Given the description of an element on the screen output the (x, y) to click on. 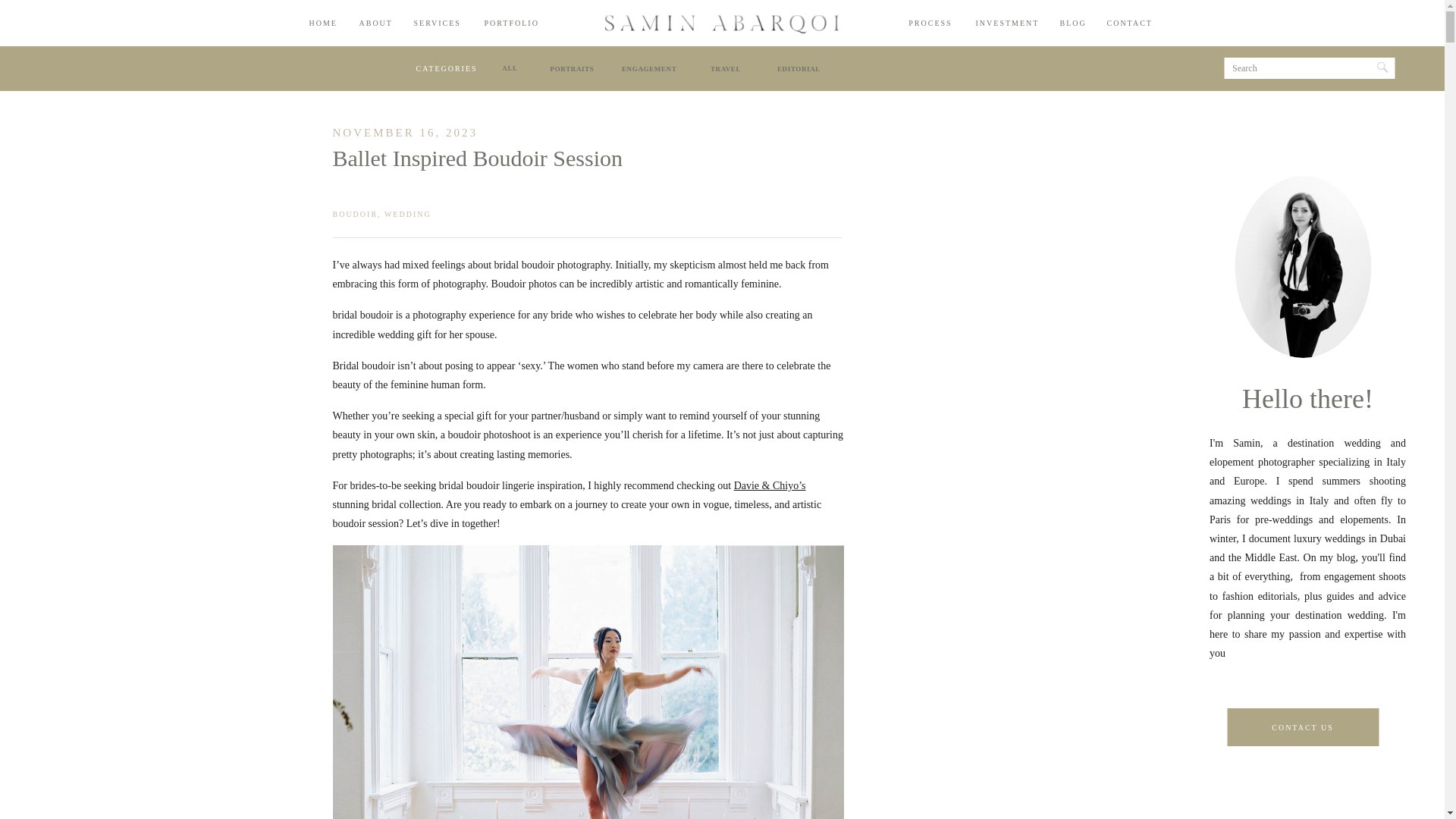
BLOG (1071, 22)
HOME (322, 22)
SERVICES (436, 22)
INVESTMENT (1005, 22)
EDITORIAL (798, 68)
ENGAGEMENT  (649, 68)
TRAVEL (725, 68)
CONTACT US (1302, 727)
PORTRAITS (572, 68)
ABOUT (375, 22)
CONTACT (1128, 22)
ALL (509, 68)
PORTFOLIO (509, 22)
PROCESS (930, 22)
